Given the description of an element on the screen output the (x, y) to click on. 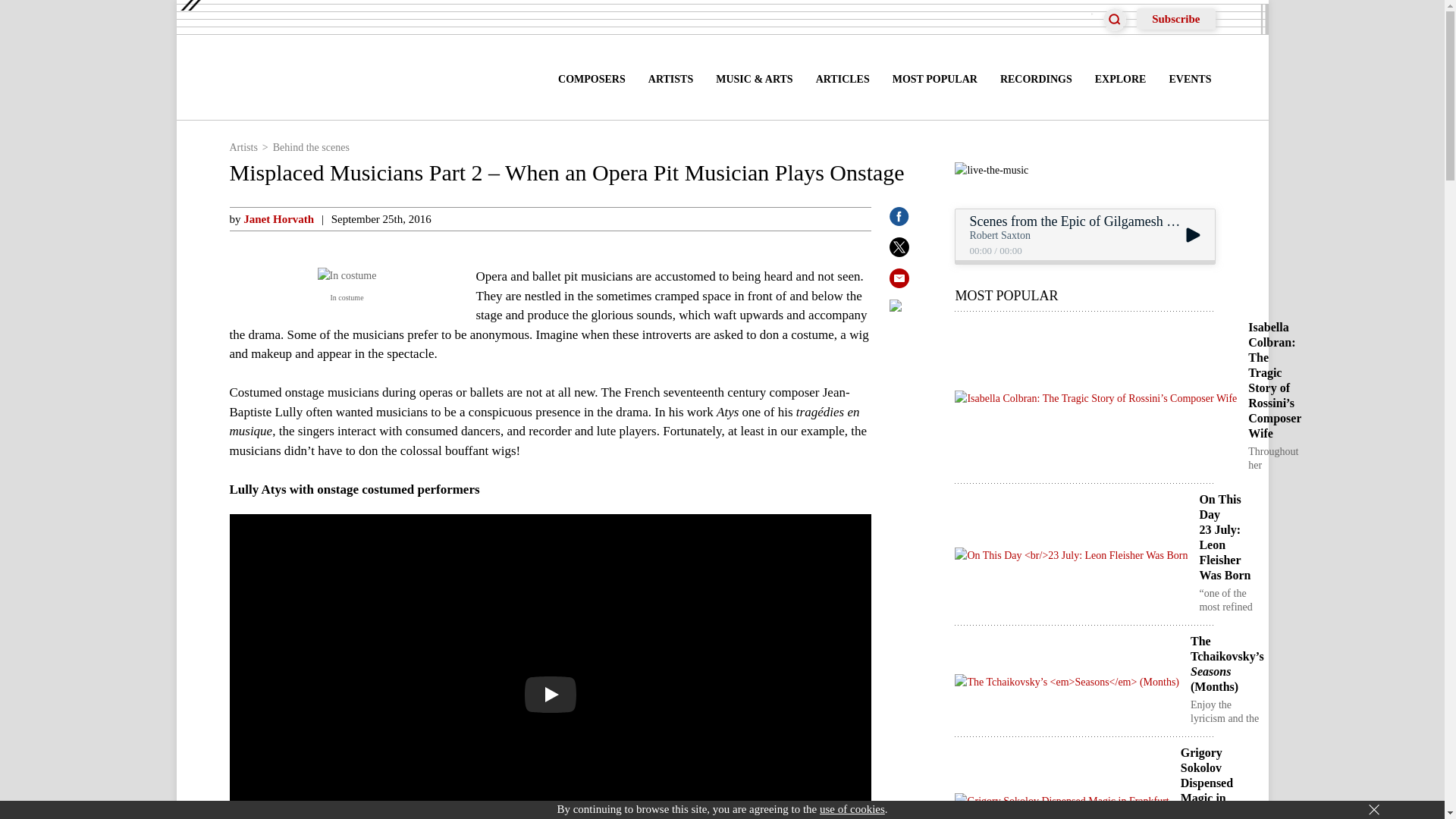
Share this Entry on Facebook (898, 220)
